Given the description of an element on the screen output the (x, y) to click on. 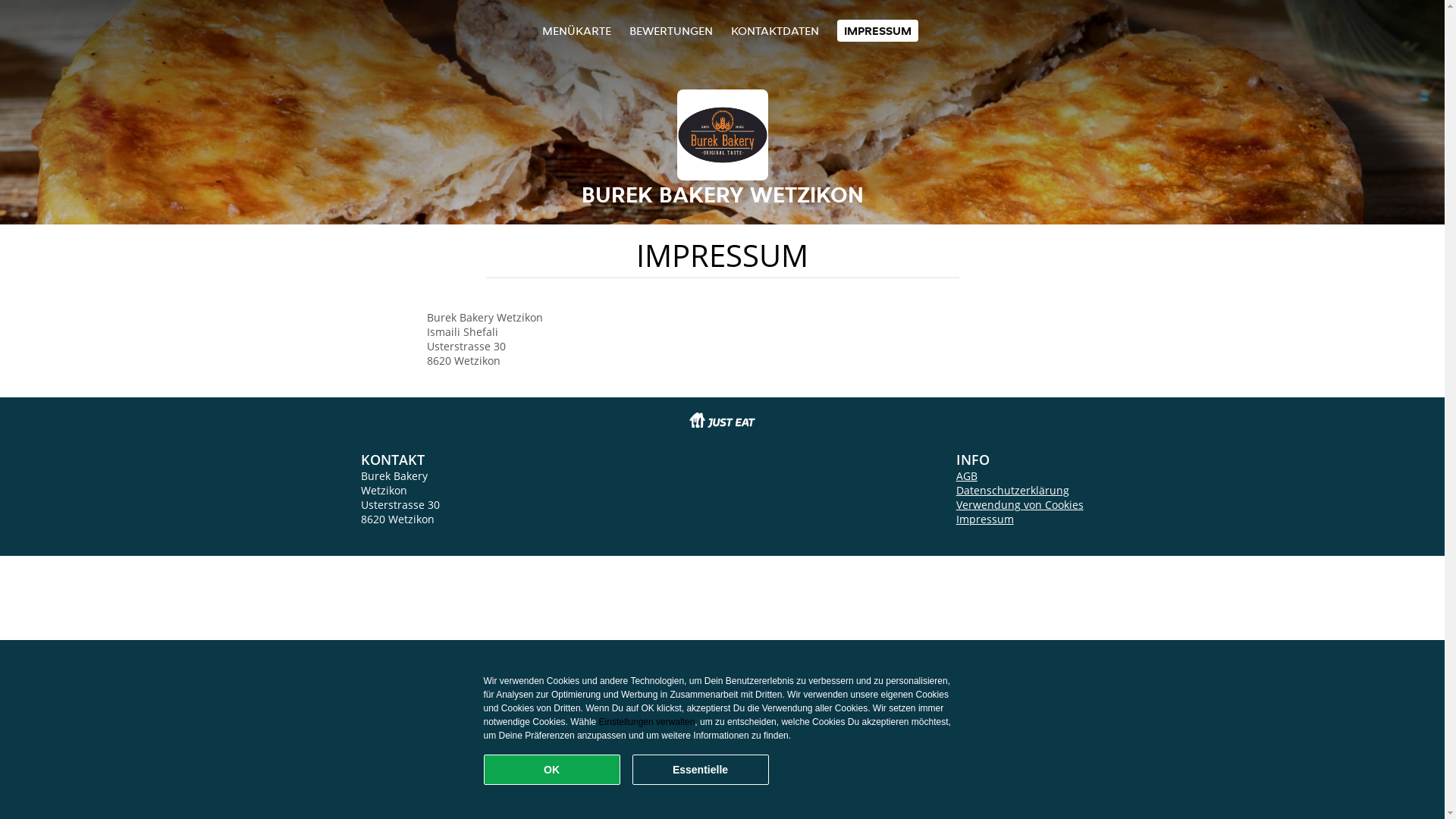
Impressum Element type: text (984, 518)
BEWERTUNGEN Element type: text (670, 30)
KONTAKTDATEN Element type: text (775, 30)
Essentielle Element type: text (700, 769)
AGB Element type: text (966, 475)
IMPRESSUM Element type: text (877, 30)
OK Element type: text (551, 769)
Einstellungen verwalten Element type: text (647, 721)
Verwendung von Cookies Element type: text (1019, 504)
